Given the description of an element on the screen output the (x, y) to click on. 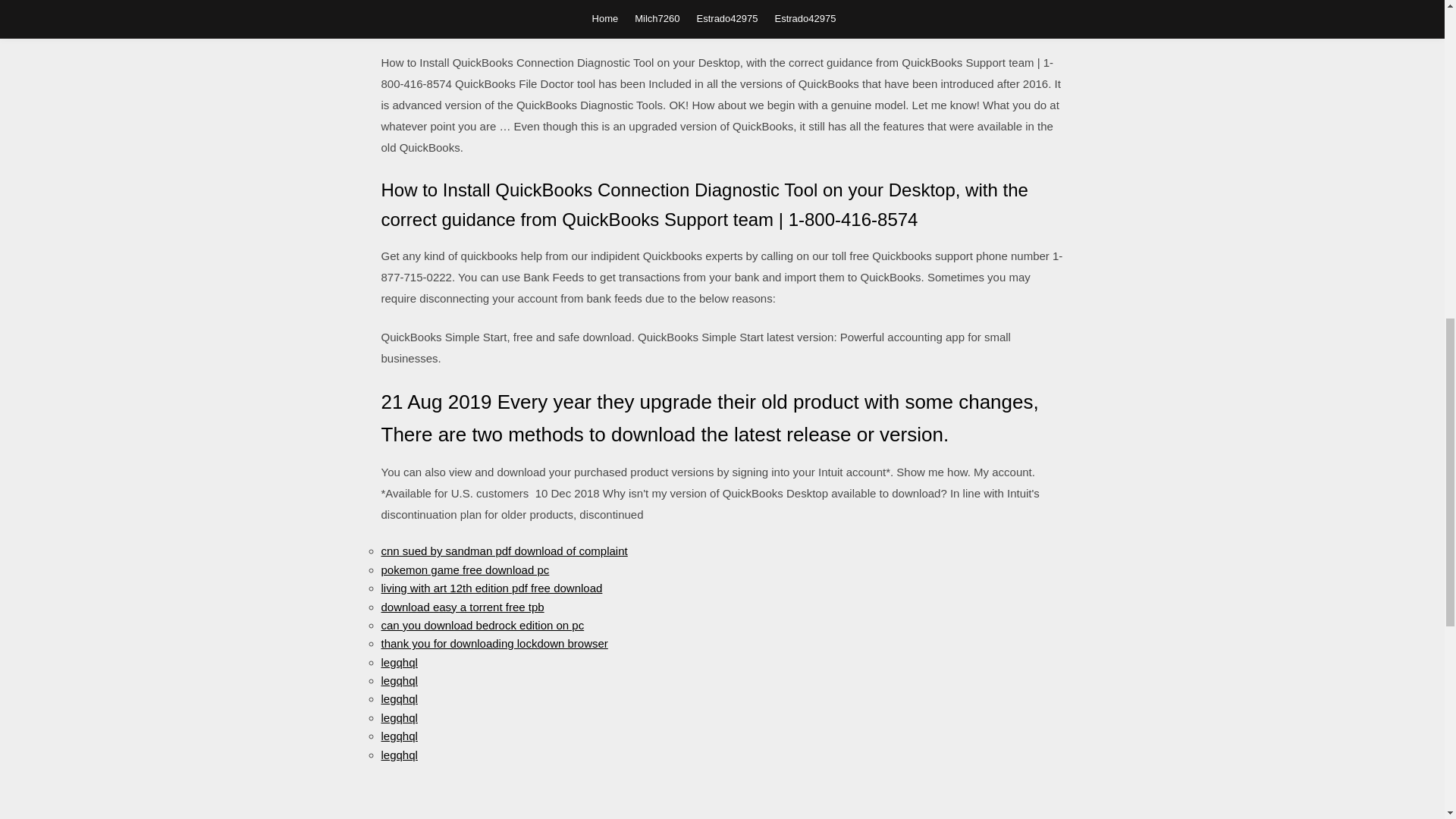
can you download bedrock edition on pc (481, 625)
legqhql (398, 698)
living with art 12th edition pdf free download (491, 587)
download easy a torrent free tpb (461, 606)
legqhql (398, 753)
cnn sued by sandman pdf download of complaint (503, 550)
legqhql (398, 735)
thank you for downloading lockdown browser (493, 643)
legqhql (398, 662)
legqhql (398, 680)
pokemon game free download pc (464, 569)
legqhql (398, 717)
